Given the description of an element on the screen output the (x, y) to click on. 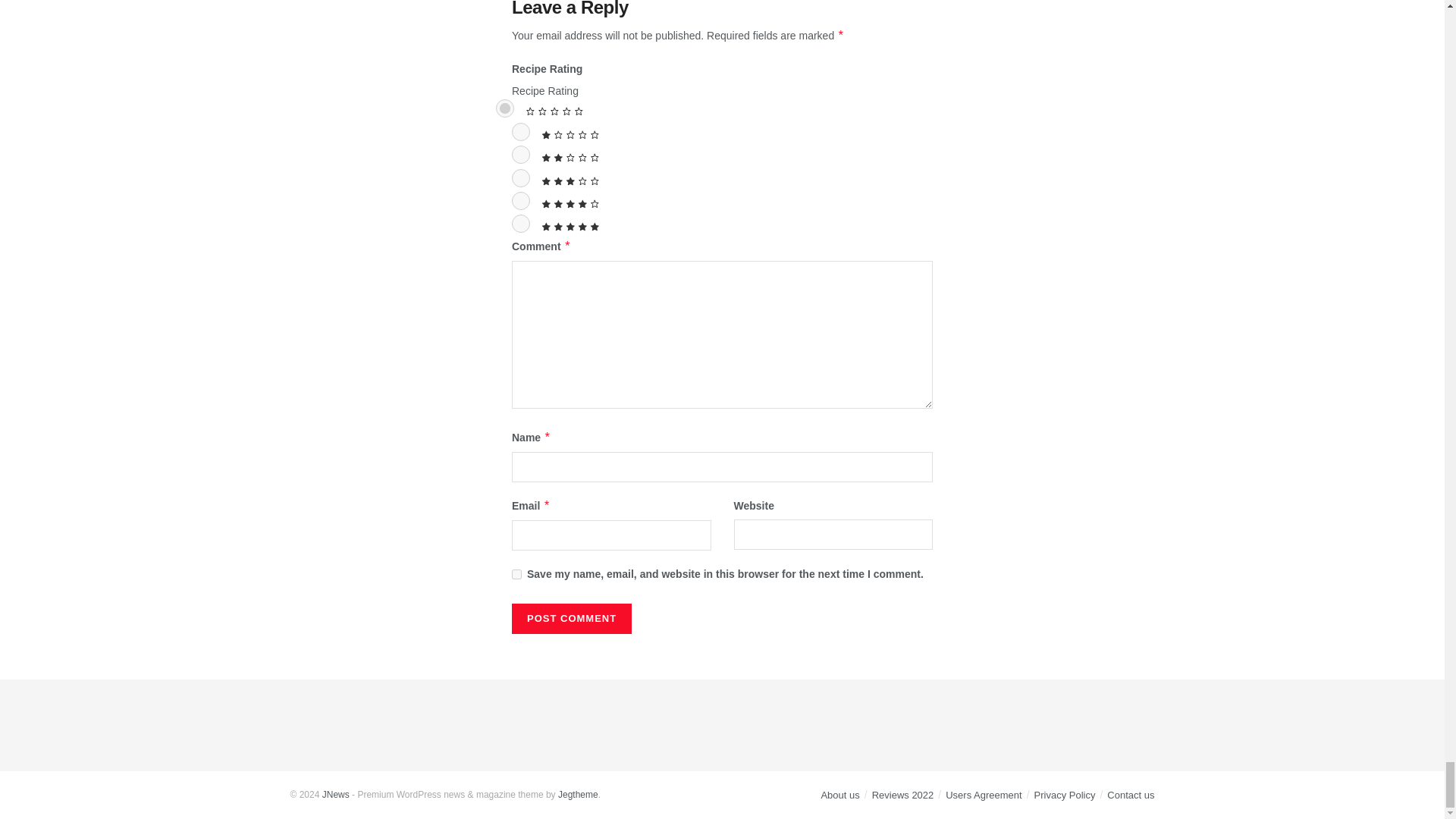
1 (520, 131)
5 (520, 223)
Jegtheme (577, 794)
0 (504, 108)
4 (520, 200)
Post Comment (571, 618)
3 (520, 177)
2 (520, 154)
yes (516, 574)
